Given the description of an element on the screen output the (x, y) to click on. 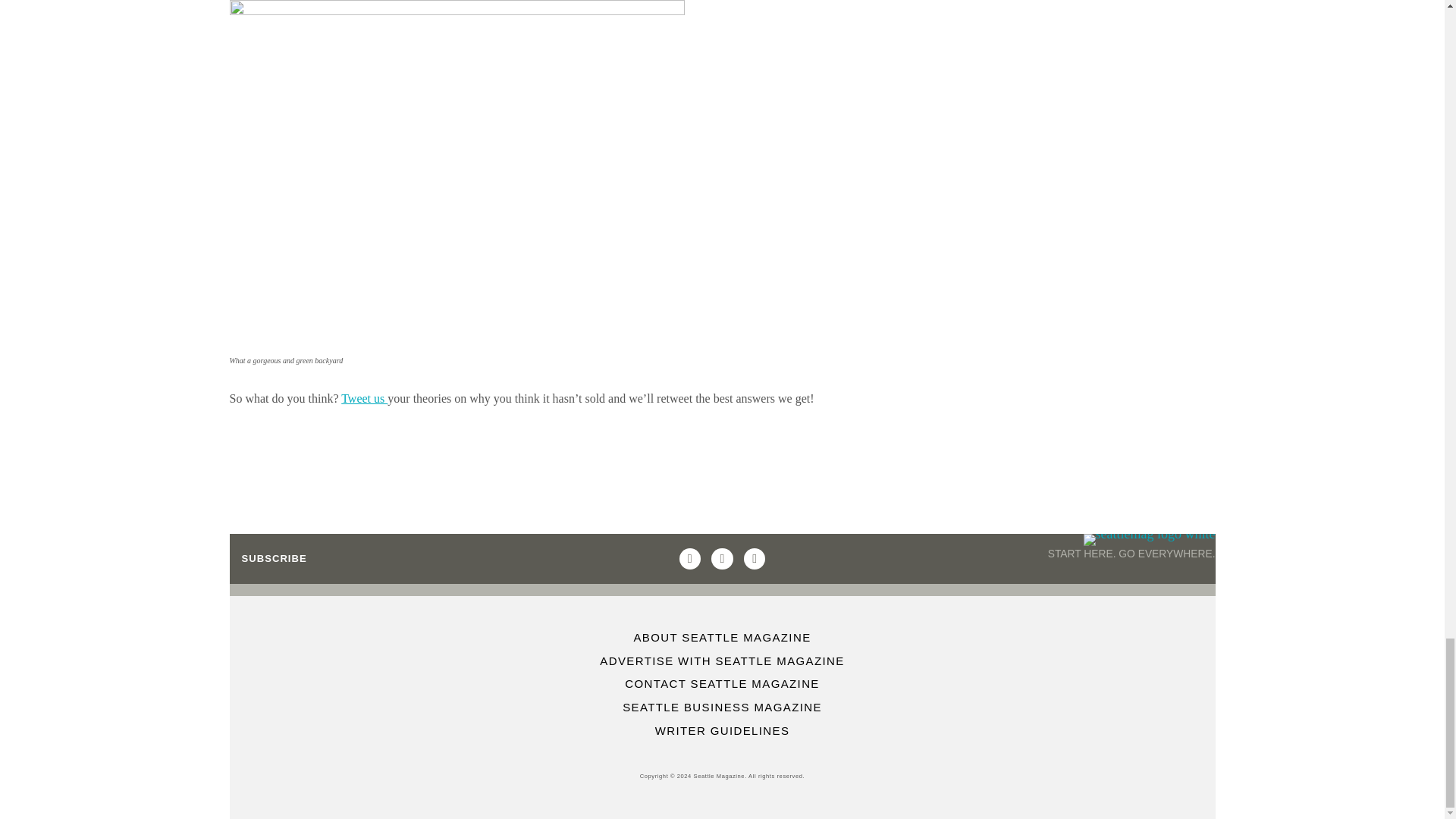
seattlemag logo white (1149, 539)
